Given the description of an element on the screen output the (x, y) to click on. 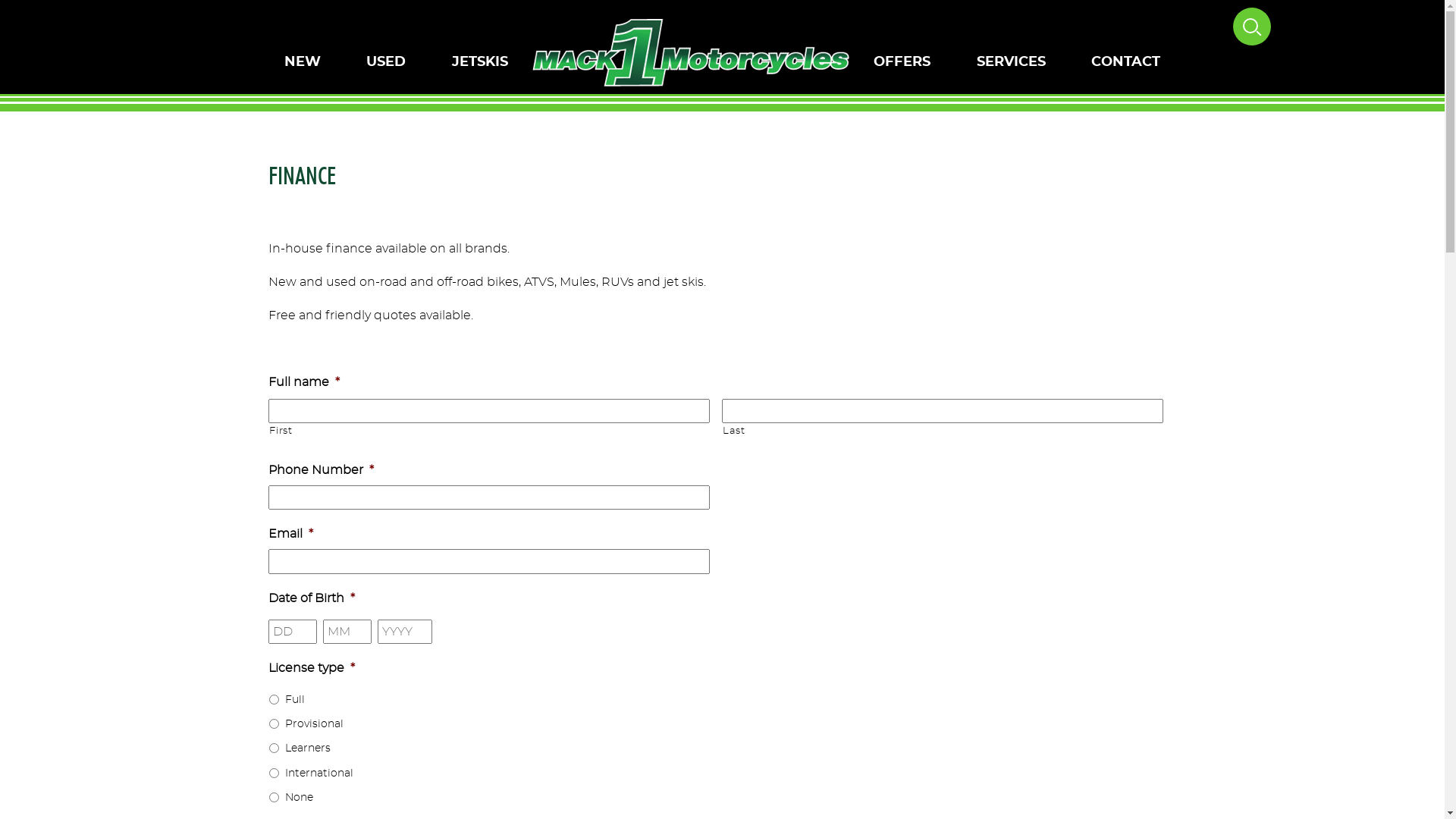
OFFERS Element type: text (901, 62)
SERVICES Element type: text (1010, 62)
Search Element type: text (37, 11)
CONTACT Element type: text (1125, 62)
